Given the description of an element on the screen output the (x, y) to click on. 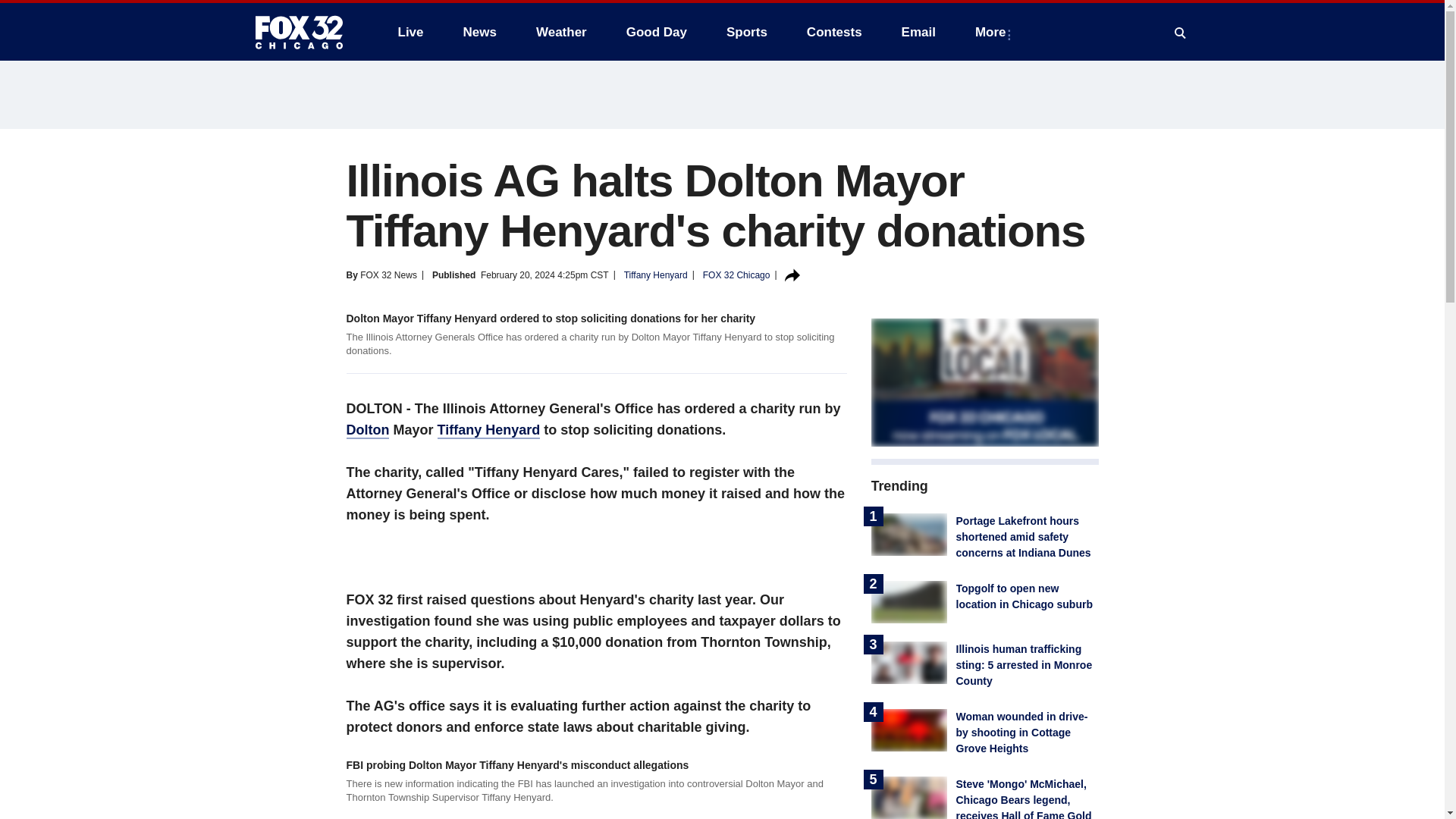
More (993, 32)
News (479, 32)
Good Day (656, 32)
Live (410, 32)
Weather (561, 32)
Contests (834, 32)
Sports (746, 32)
Email (918, 32)
